Given the description of an element on the screen output the (x, y) to click on. 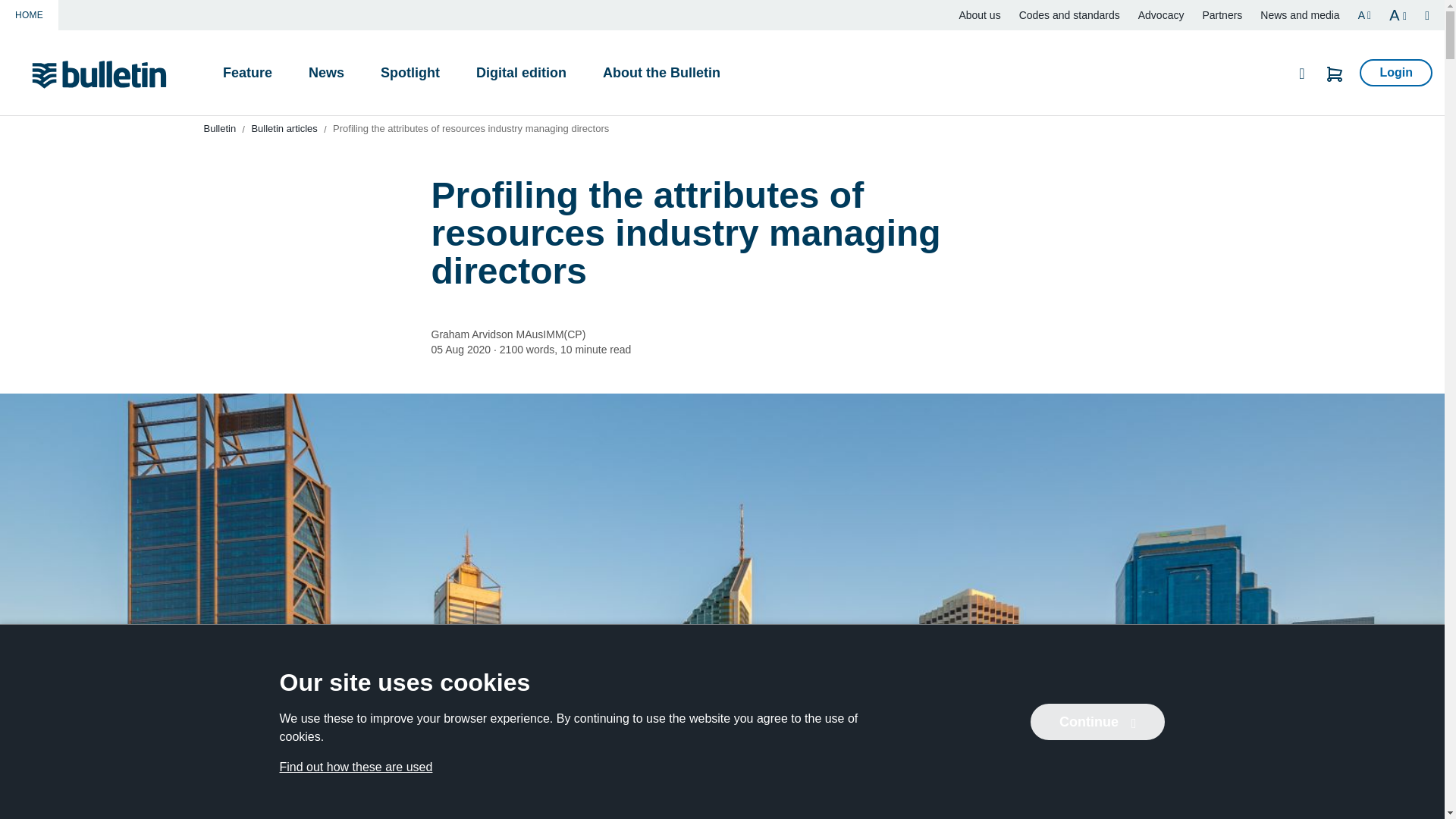
Spotlight (410, 72)
Bulletin (219, 128)
HOME (28, 15)
About us (979, 15)
Bulletin articles (283, 128)
News and media (1299, 15)
Login (1395, 72)
About the Bulletin (661, 72)
Advocacy (1161, 15)
Digital edition (521, 72)
News (325, 72)
Partners (1221, 15)
Codes and standards (1069, 15)
Feature (247, 72)
